Given the description of an element on the screen output the (x, y) to click on. 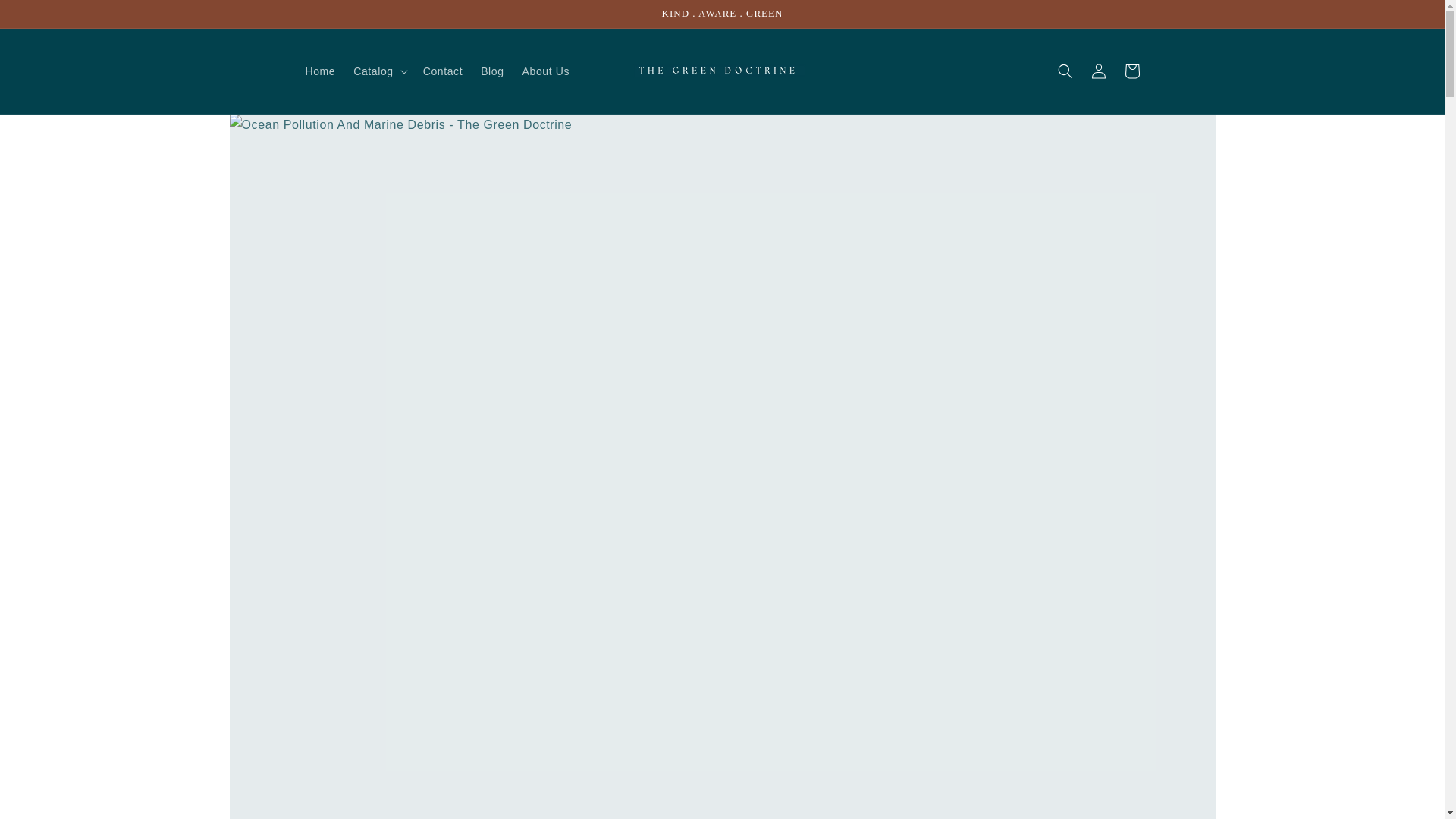
Cart (1131, 70)
Skip to content (45, 17)
Log in (1098, 70)
Home (319, 70)
Blog (491, 70)
About Us (545, 70)
Contact (442, 70)
